Given the description of an element on the screen output the (x, y) to click on. 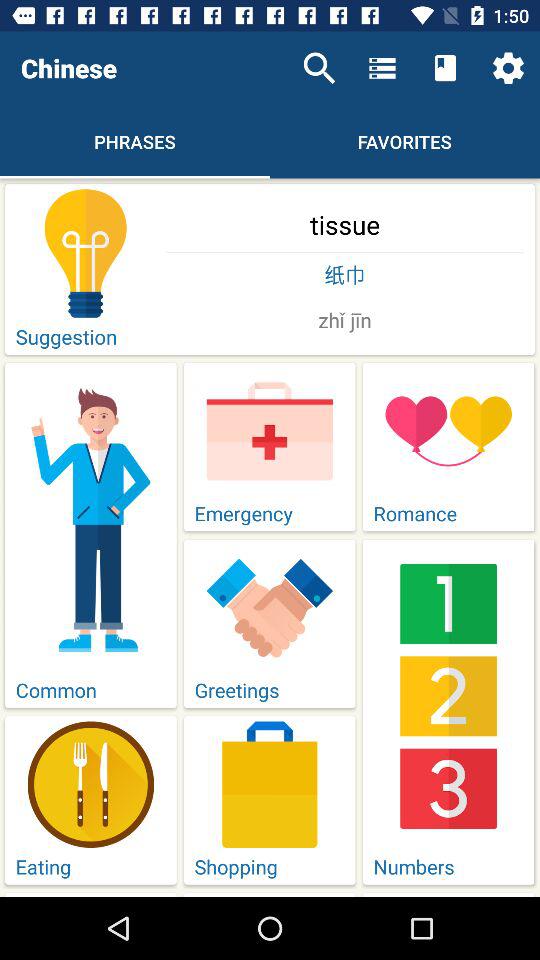
launch icon above the tissue item (508, 67)
